Given the description of an element on the screen output the (x, y) to click on. 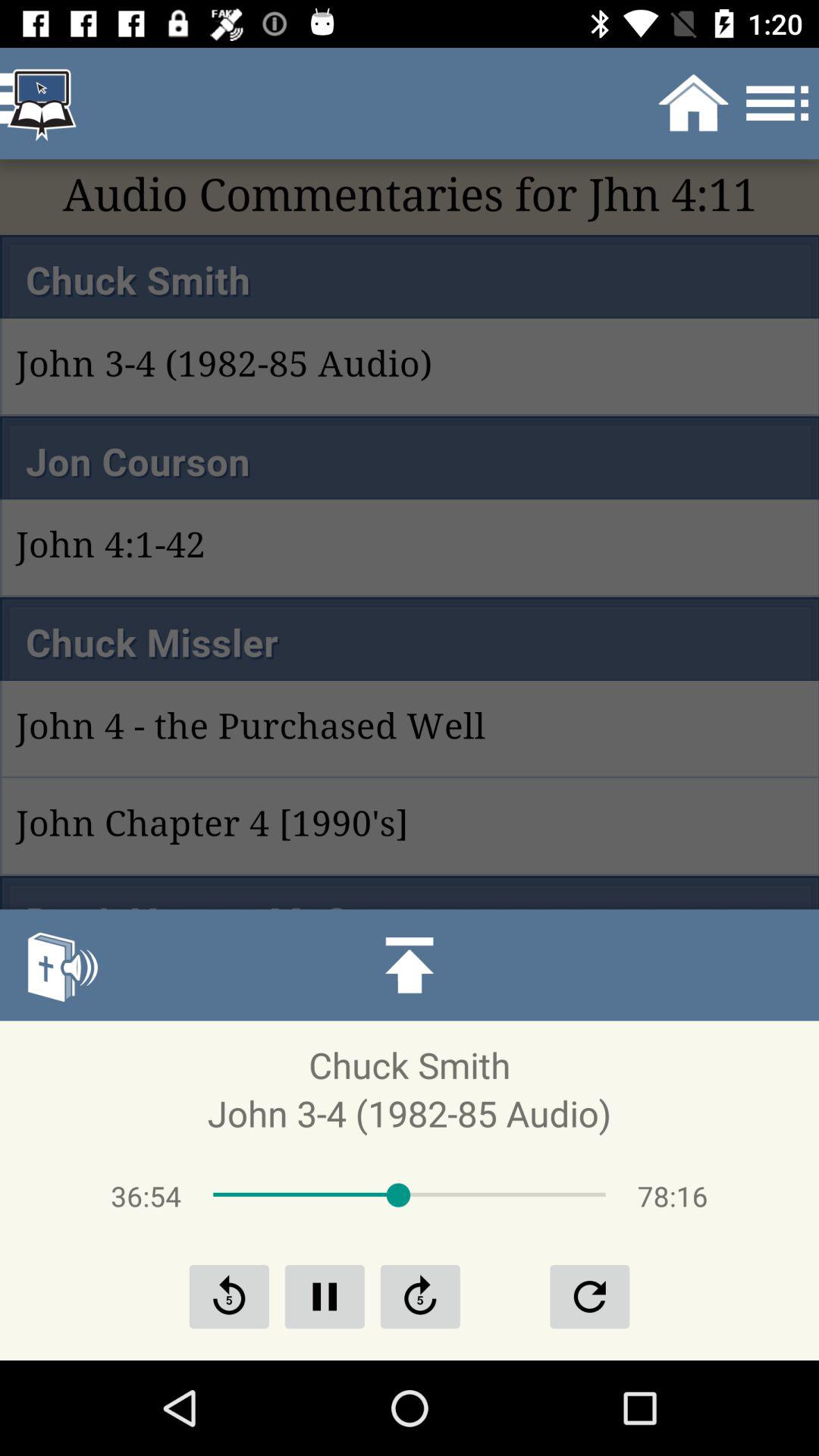
select the icon at the top left corner (41, 103)
